Given the description of an element on the screen output the (x, y) to click on. 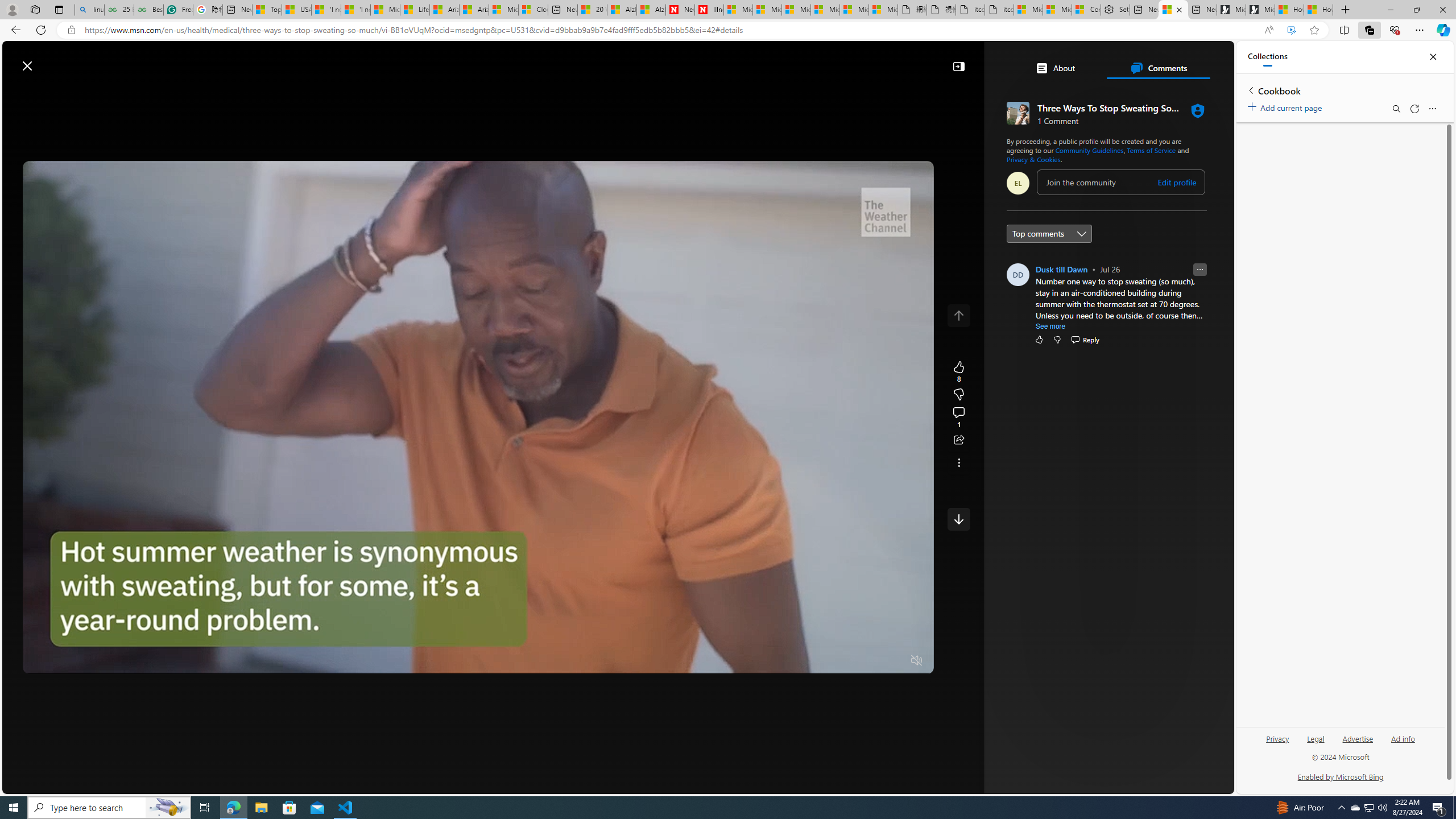
25 Basic Linux Commands For Beginners - GeeksforGeeks (118, 9)
Add current page (1286, 105)
Reply Reply Comment (1084, 339)
itconcepthk.com/projector_solutions.mp4 (999, 9)
Like (1038, 339)
To get missing image descriptions, open the context menu. (1000, 92)
Ad info (1402, 738)
Enhance video (1291, 29)
Class: at-item detail-page (958, 462)
Terms of Service (1151, 149)
Watch (307, 92)
